Given the description of an element on the screen output the (x, y) to click on. 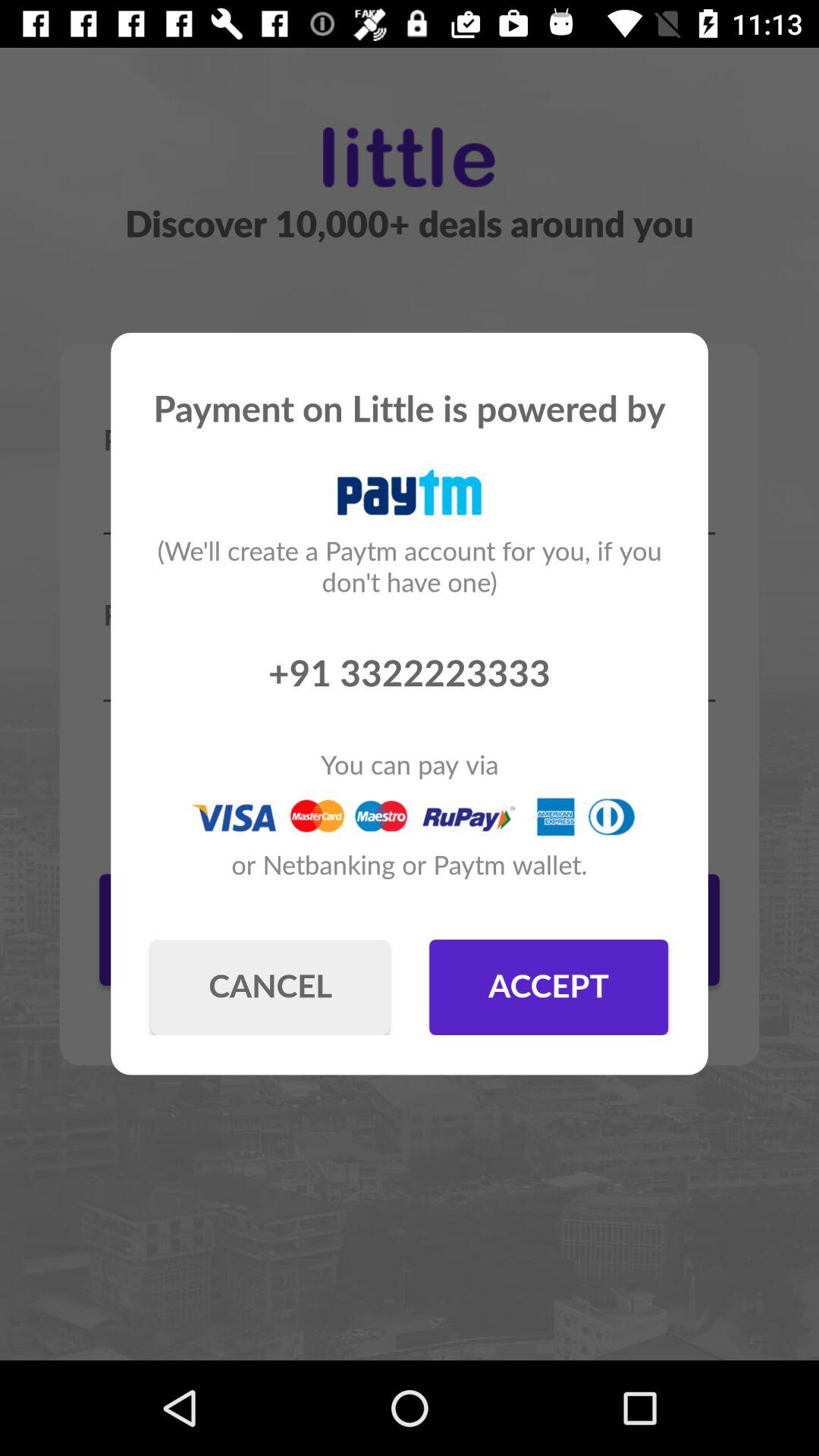
choose the button to the right of the cancel (548, 987)
